Given the description of an element on the screen output the (x, y) to click on. 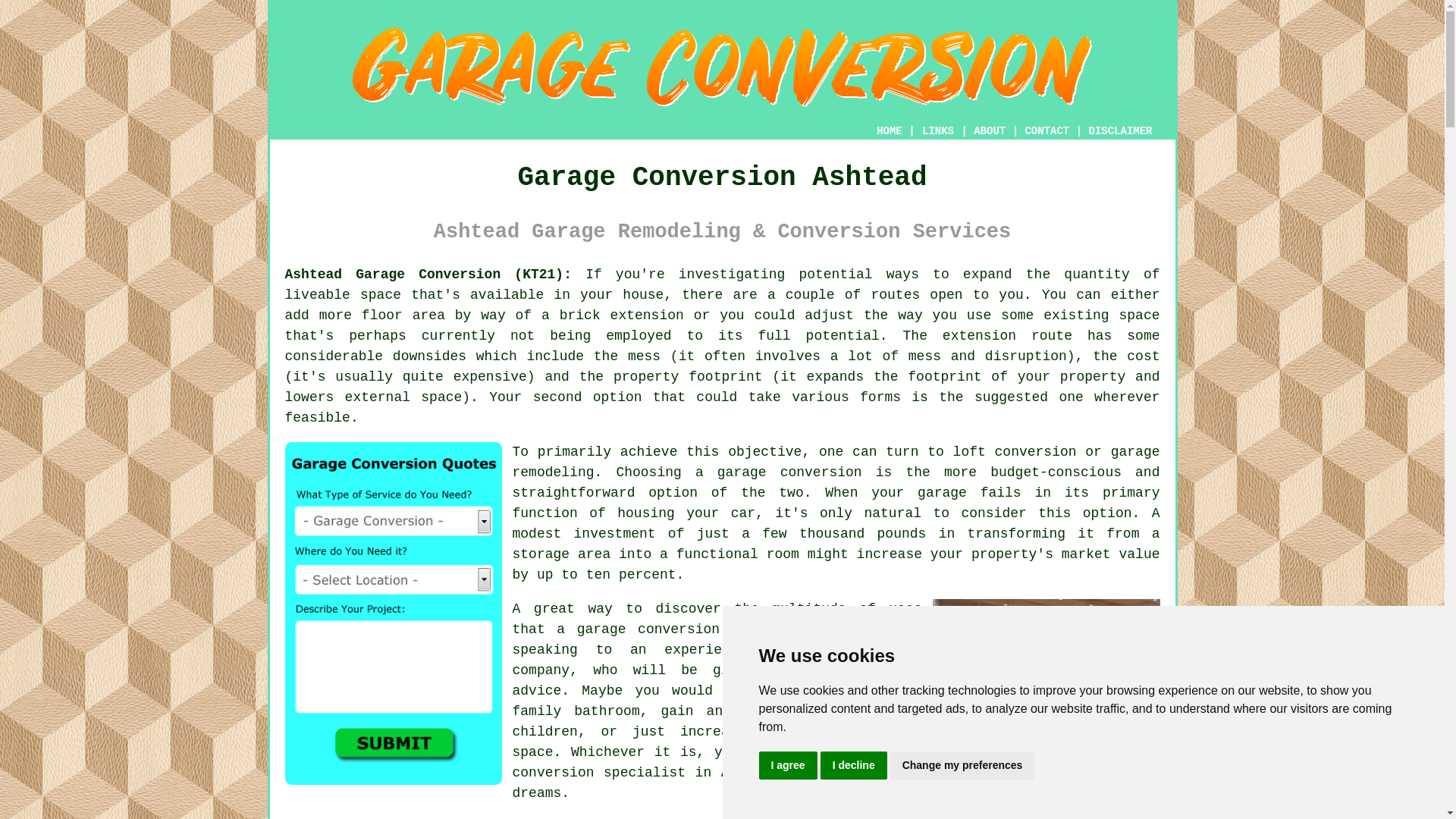
Garage Conversion Ashtead (721, 66)
LINKS (938, 131)
I agree (787, 765)
bespoke garage remodeling (836, 461)
I decline (853, 765)
Change my preferences (962, 765)
HOME (889, 131)
garage conversion (789, 472)
Garage Conversion Ashtead Surrey (1046, 673)
